Given the description of an element on the screen output the (x, y) to click on. 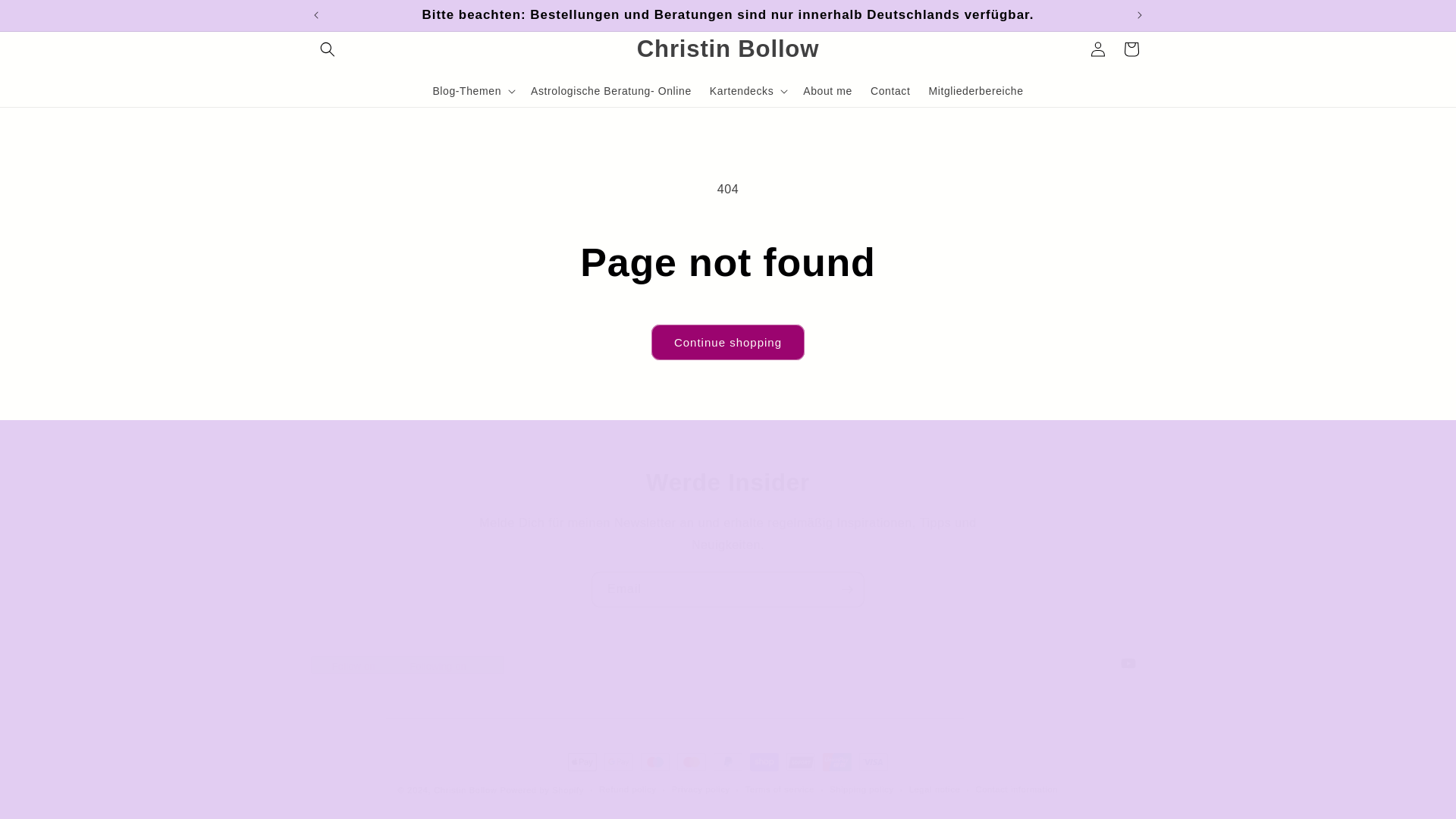
Werde Insider (727, 482)
Cart (1131, 49)
Contact (889, 90)
About me (827, 90)
YouTube (727, 663)
Astrologische Beratung- Online (610, 90)
Christin Bollow (727, 48)
Log in (1098, 49)
Email (727, 589)
Mitgliederbereiche (975, 90)
